Given the description of an element on the screen output the (x, y) to click on. 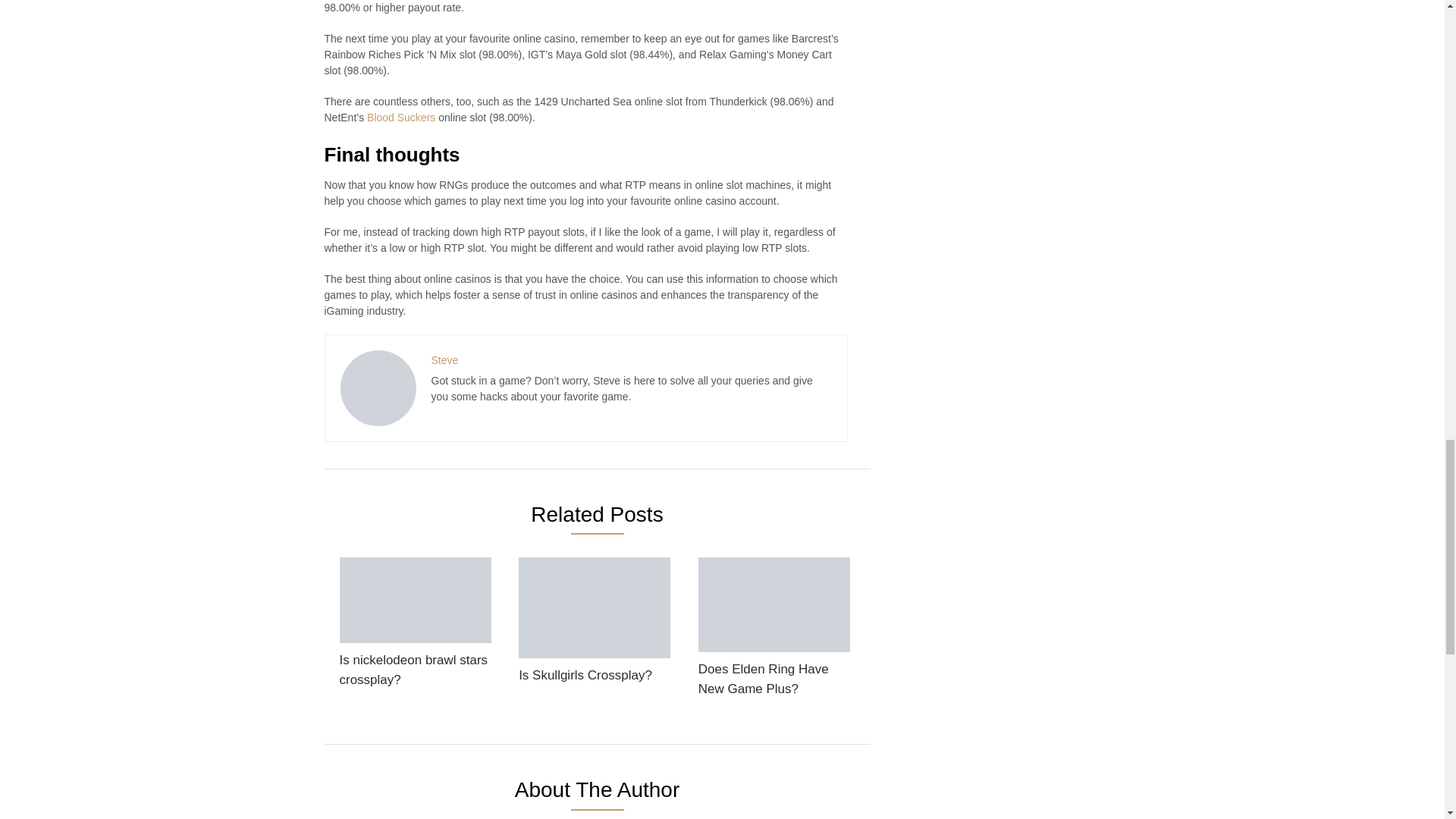
Is Skullgirls Crossplay? 4 (593, 607)
Is Skullgirls Crossplay? (593, 624)
Is nickelodeon brawl stars crossplay? (415, 626)
Is nickelodeon brawl stars crossplay? 3 (415, 599)
Is Skullgirls Crossplay? (593, 624)
Steve (444, 359)
Do New Players Really Need to Worry About RTP? 1 (376, 387)
Does Elden Ring Have New Game Plus? (774, 631)
Does Elden Ring Have New Game Plus? (774, 631)
Does Elden Ring Have New Game Plus? 5 (774, 604)
Is nickelodeon brawl stars crossplay? (415, 626)
Blood Suckers (400, 117)
